Given the description of an element on the screen output the (x, y) to click on. 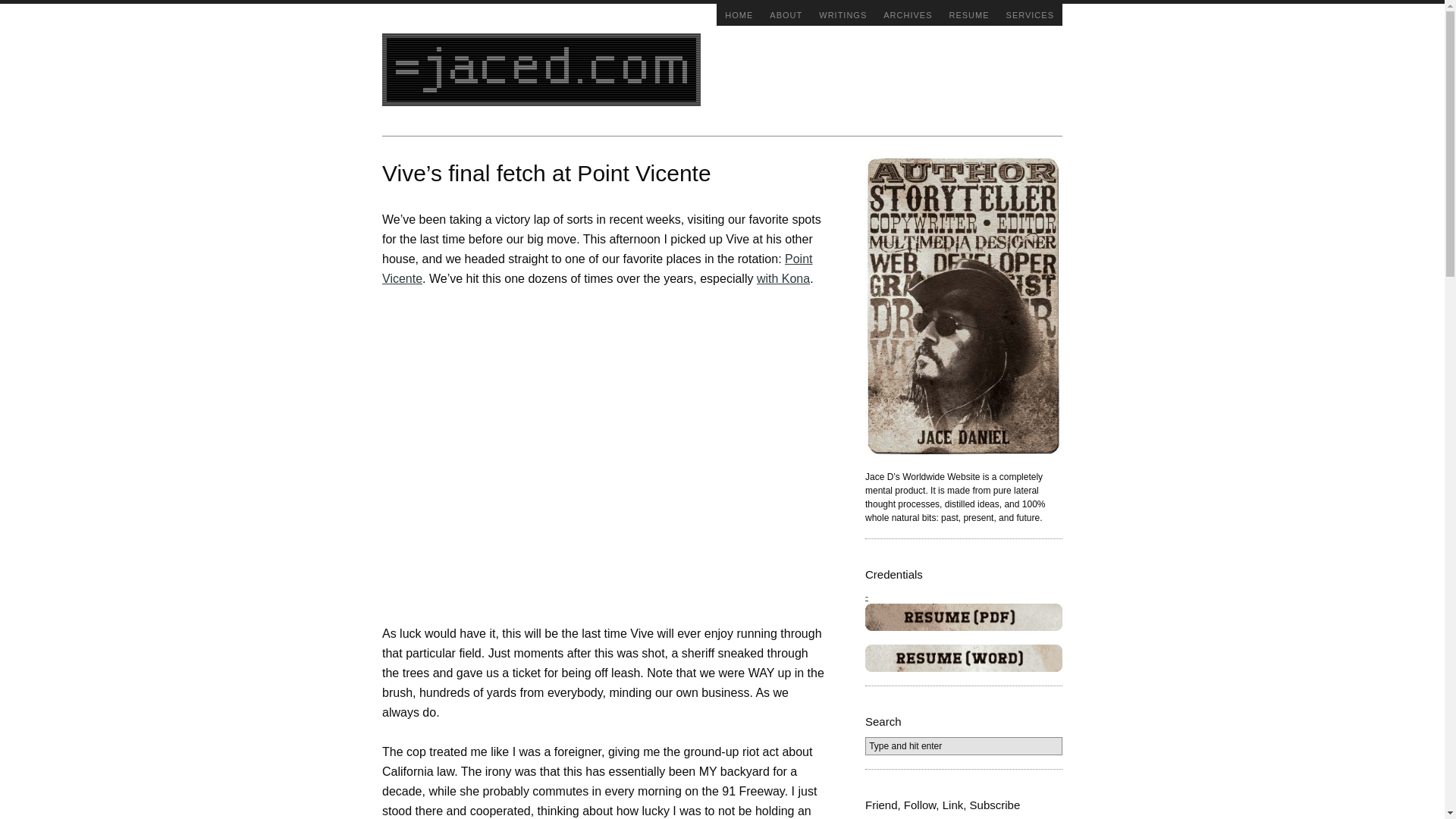
SERVICES (1029, 14)
Point Vicente (596, 268)
ABOUT (785, 14)
click to go to the home page (540, 69)
Type and hit enter (963, 746)
ARCHIVES (907, 14)
kona vivor pt vicente (783, 278)
RESUME (968, 14)
HOME (738, 14)
WRITINGS (842, 14)
